Given the description of an element on the screen output the (x, y) to click on. 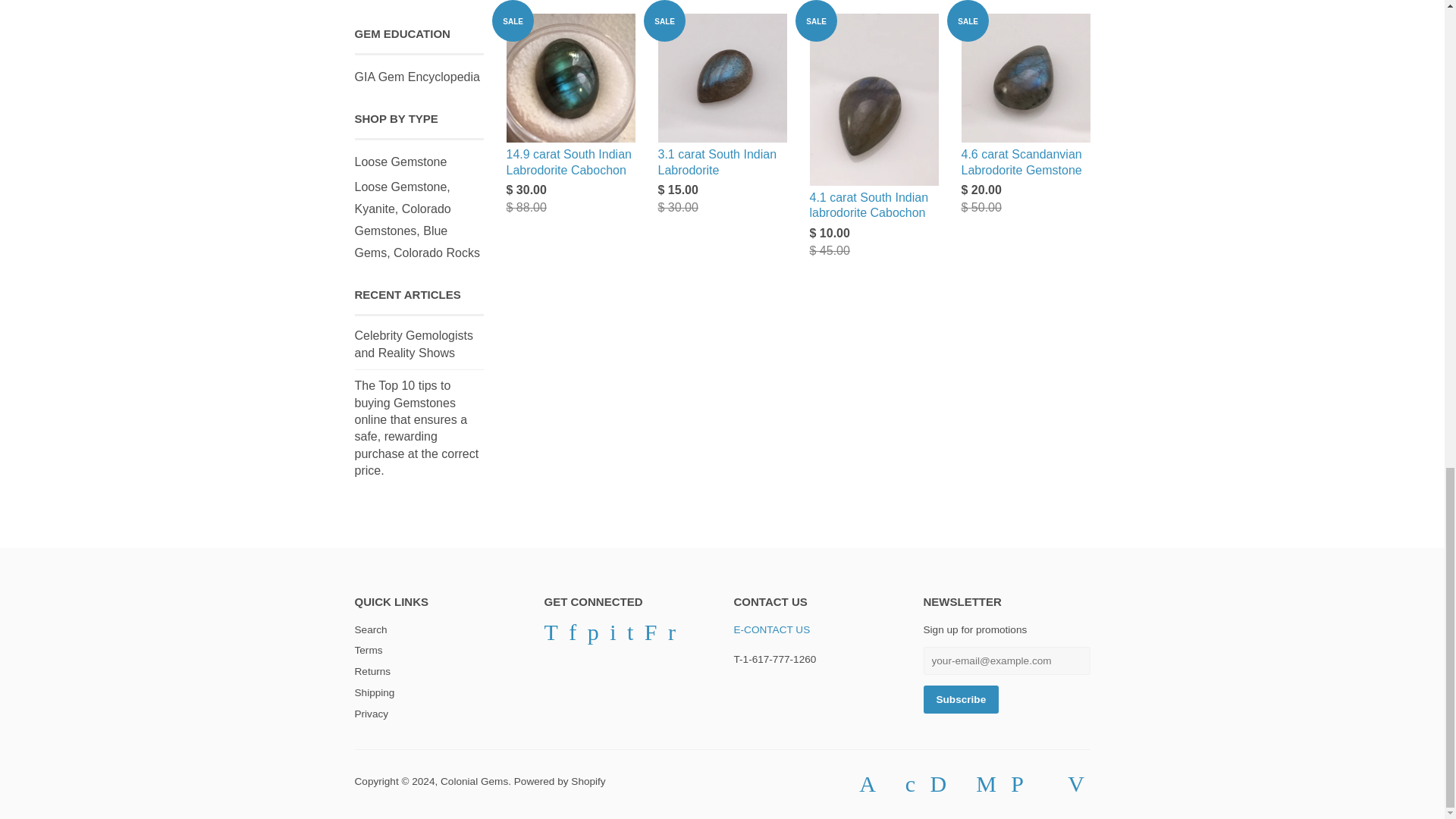
Colonial Gems on Tumblr (630, 636)
Colonial Gems on RSS (671, 636)
Colonial Gems on Fancy (651, 636)
Subscribe (960, 699)
Colonial Gems on Pinterest (593, 636)
Colonial Gems on Instagram (612, 636)
Colonial Gems on Twitter (550, 636)
Colonial Gems on Facebook (572, 636)
